Given the description of an element on the screen output the (x, y) to click on. 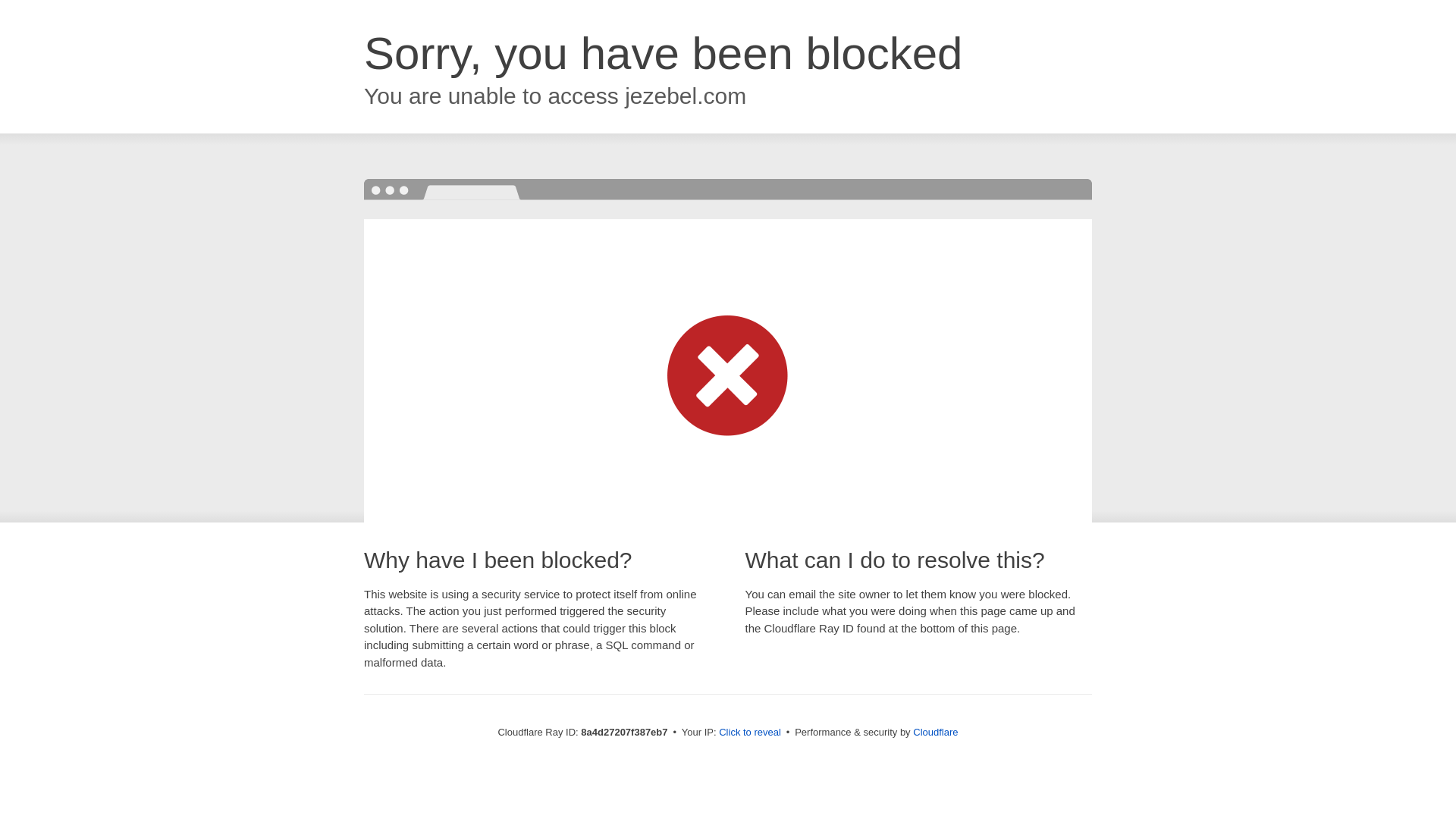
Cloudflare (935, 731)
Click to reveal (749, 732)
